Given the description of an element on the screen output the (x, y) to click on. 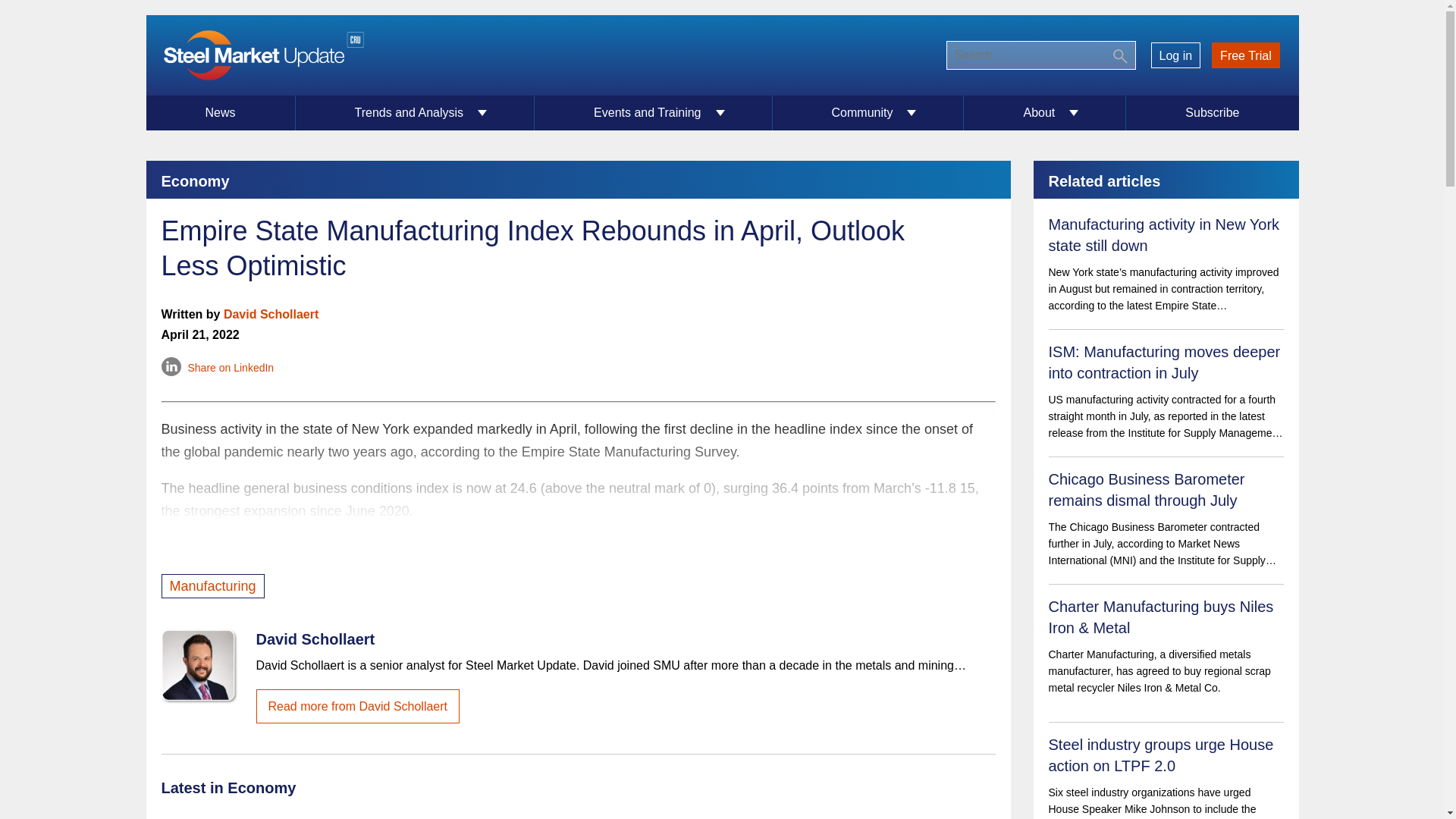
Free Trial (1245, 55)
Home (262, 55)
News (220, 112)
Log in (1175, 55)
Trends and Analysis (415, 112)
